Given the description of an element on the screen output the (x, y) to click on. 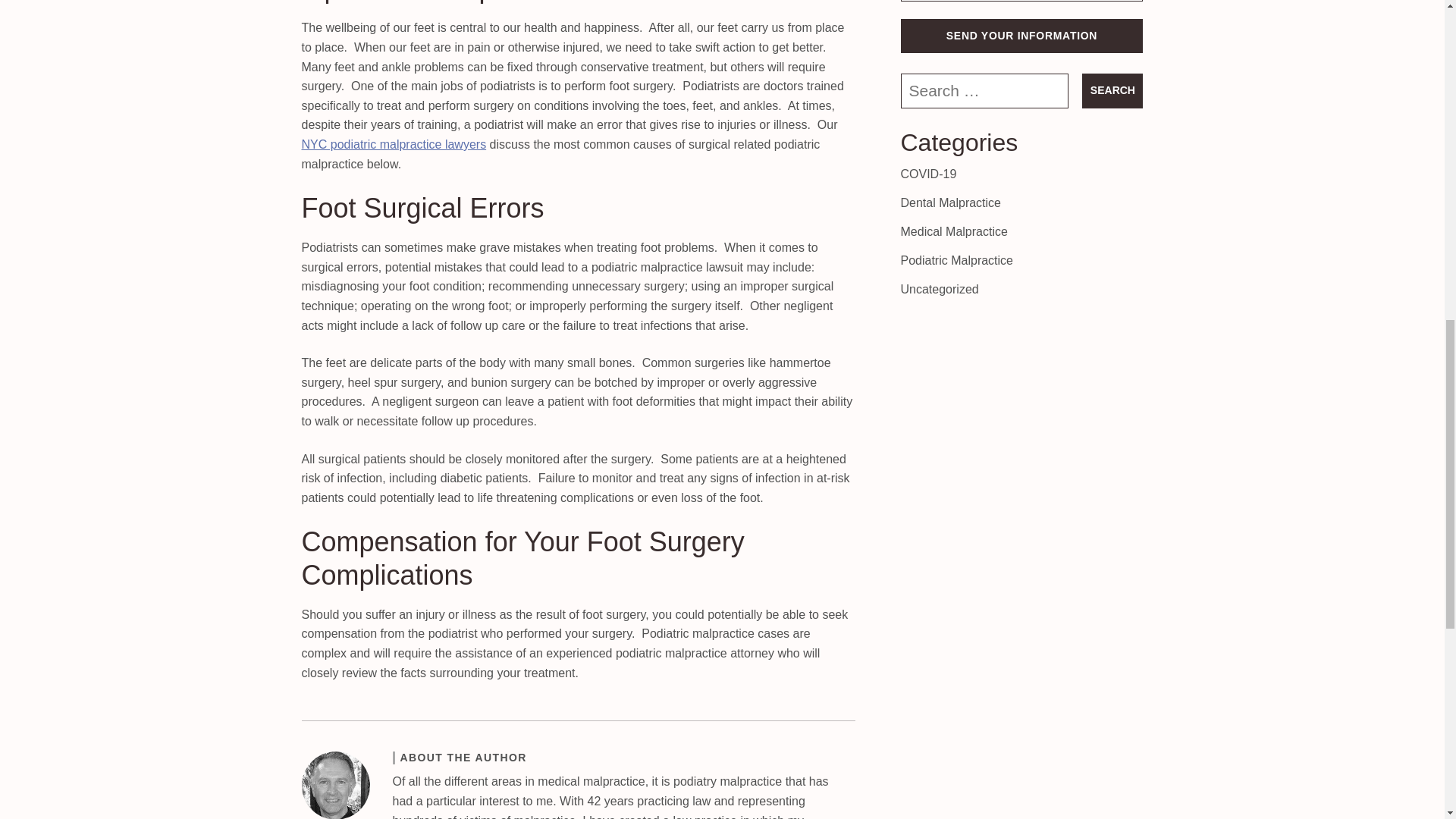
Search (1111, 90)
Dental Malpractice (951, 202)
Search (1111, 90)
Search (1111, 90)
SEND YOUR INFORMATION (1021, 35)
NYC podiatric malpractice lawyers (393, 144)
Search for: (984, 90)
Uncategorized (939, 288)
Medical Malpractice (954, 231)
COVID-19 (928, 173)
Podiatric Malpractice (957, 259)
